Given the description of an element on the screen output the (x, y) to click on. 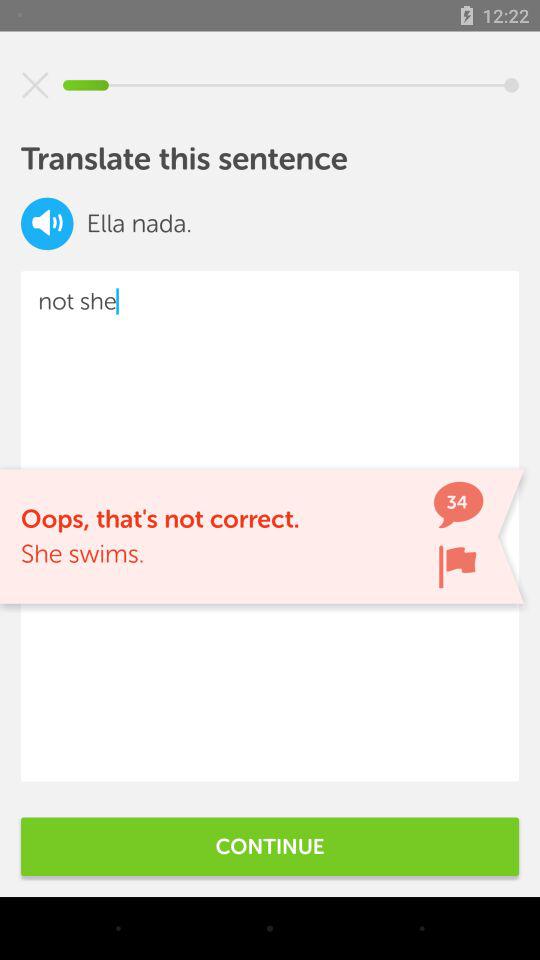
report problem (457, 566)
